Given the description of an element on the screen output the (x, y) to click on. 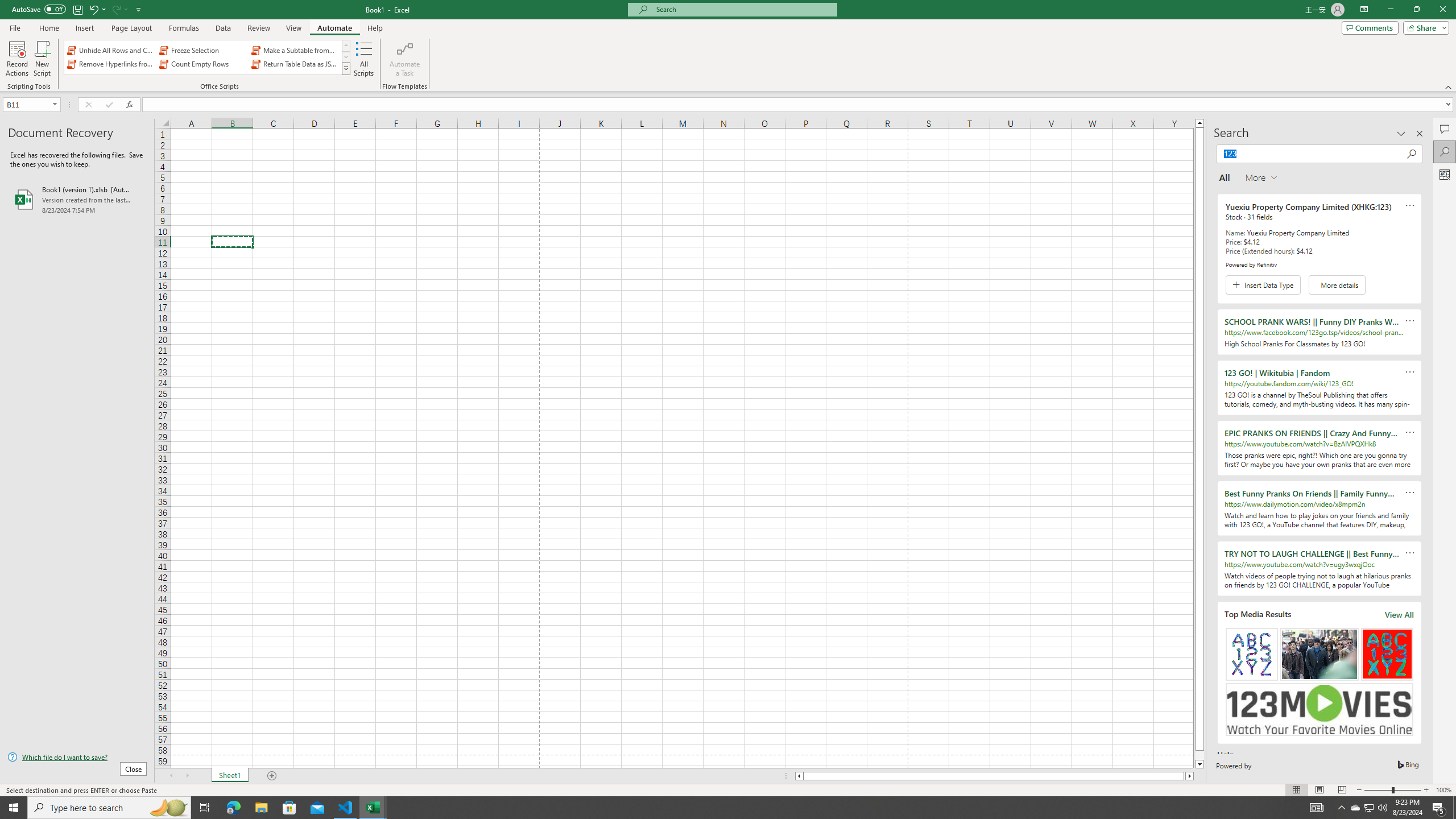
Remove Hyperlinks from Sheet (111, 64)
Unhide All Rows and Columns (111, 50)
Office Scripts (346, 68)
Count Empty Rows (202, 64)
AutomationID: OfficeScriptsGallery (207, 57)
Freeze Selection (202, 50)
